Given the description of an element on the screen output the (x, y) to click on. 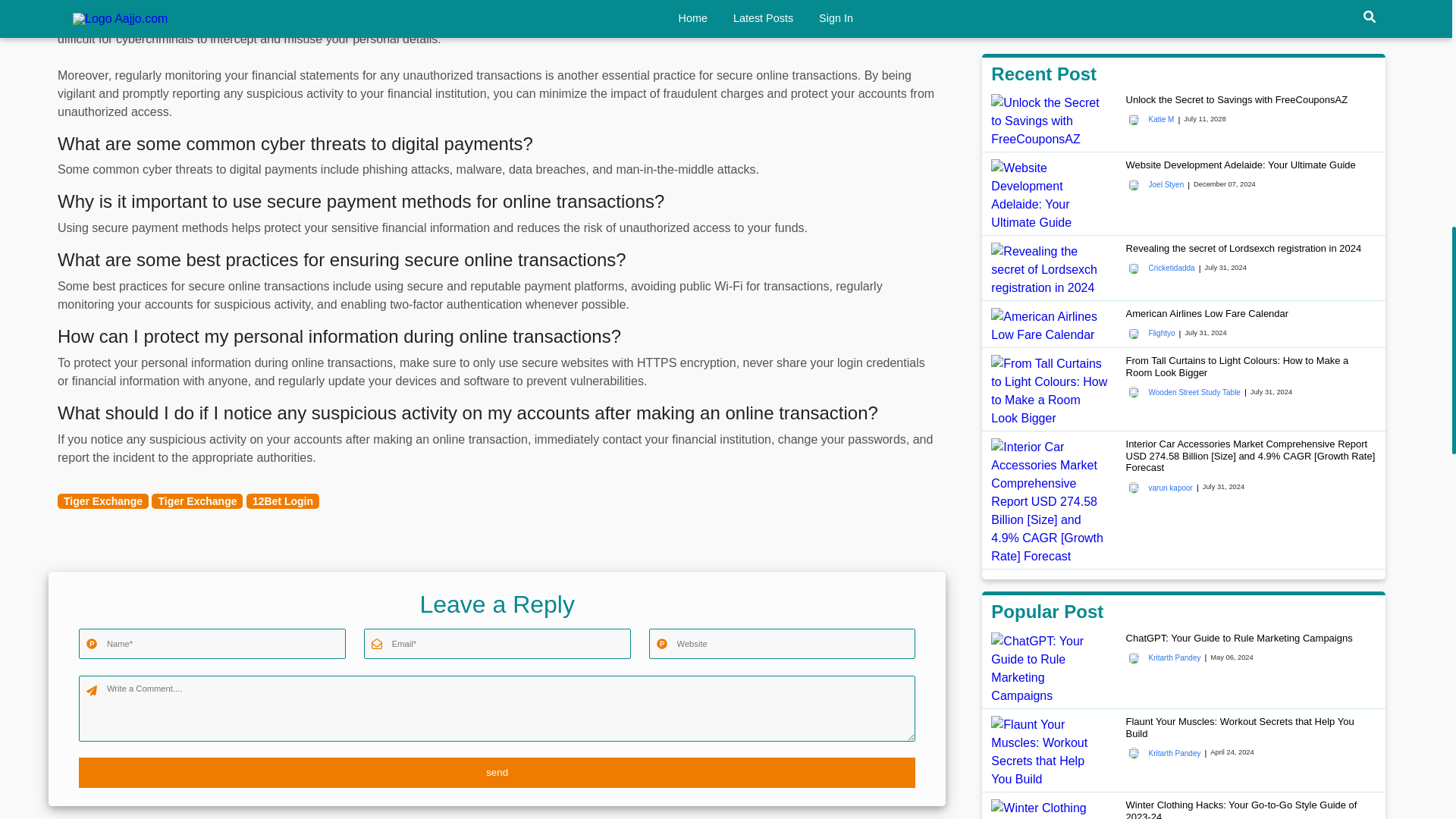
Tiger Exchange (103, 500)
12Bet Login (282, 500)
send (496, 772)
Tiger Exchange (197, 500)
